Given the description of an element on the screen output the (x, y) to click on. 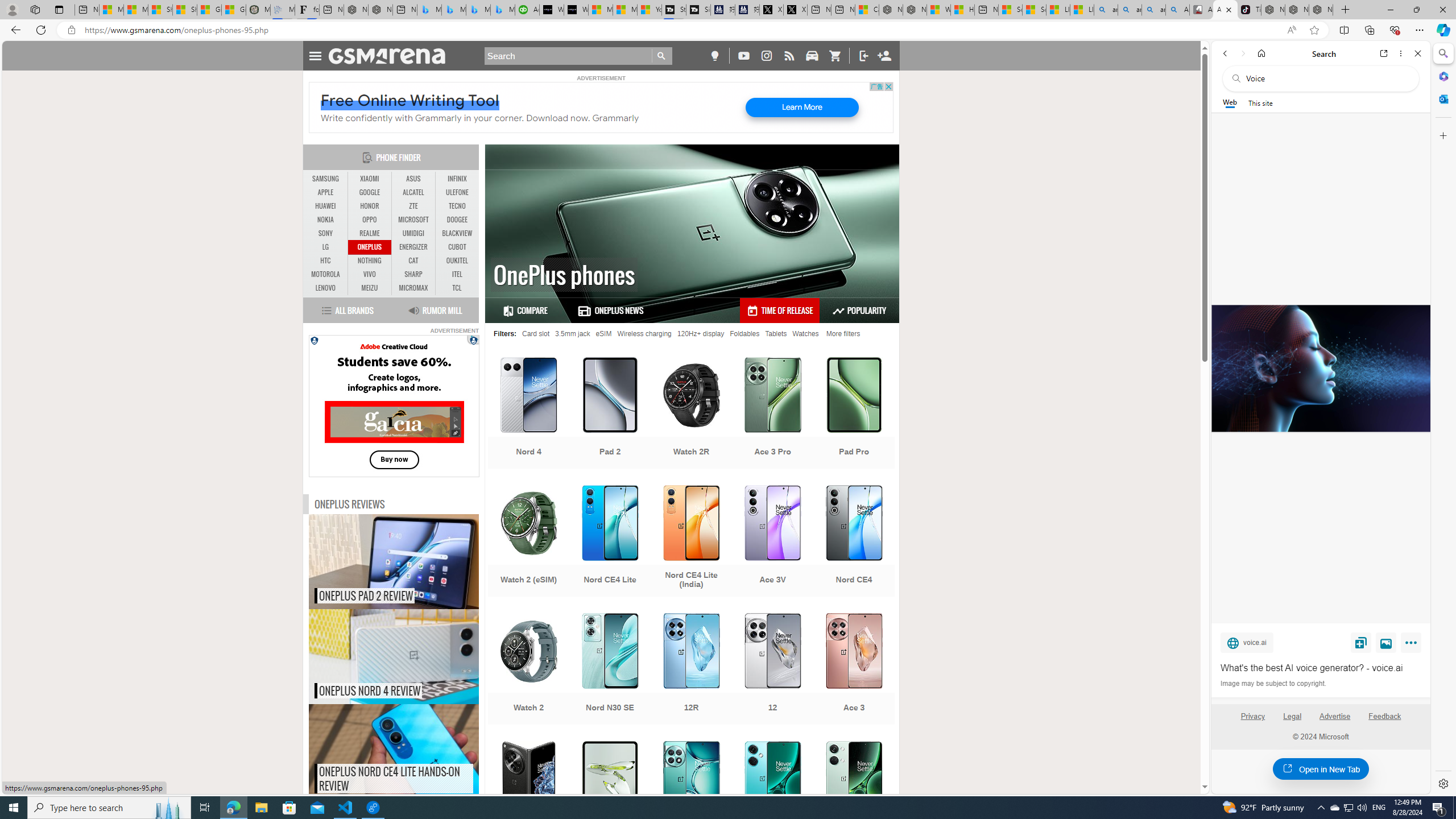
TECNO (457, 205)
Microsoft 365 (1442, 76)
CAT (413, 260)
120Hz+ display (701, 333)
HTC (325, 260)
Nord CE4 Lite (India) (691, 542)
